Given the description of an element on the screen output the (x, y) to click on. 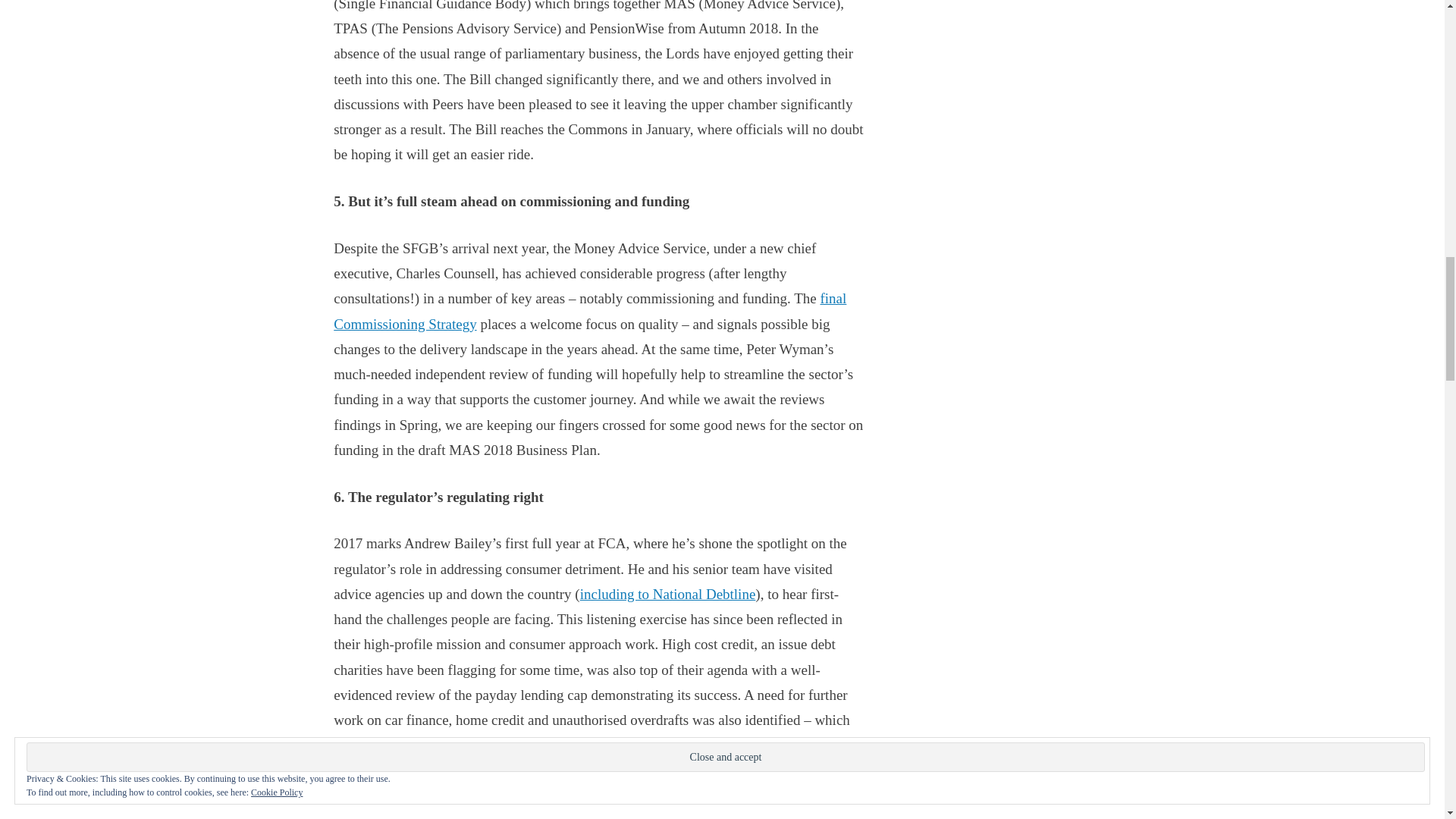
Credit-worthiness (505, 744)
could go further (813, 795)
including to National Debtline (667, 593)
final Commissioning Strategy (589, 310)
